Given the description of an element on the screen output the (x, y) to click on. 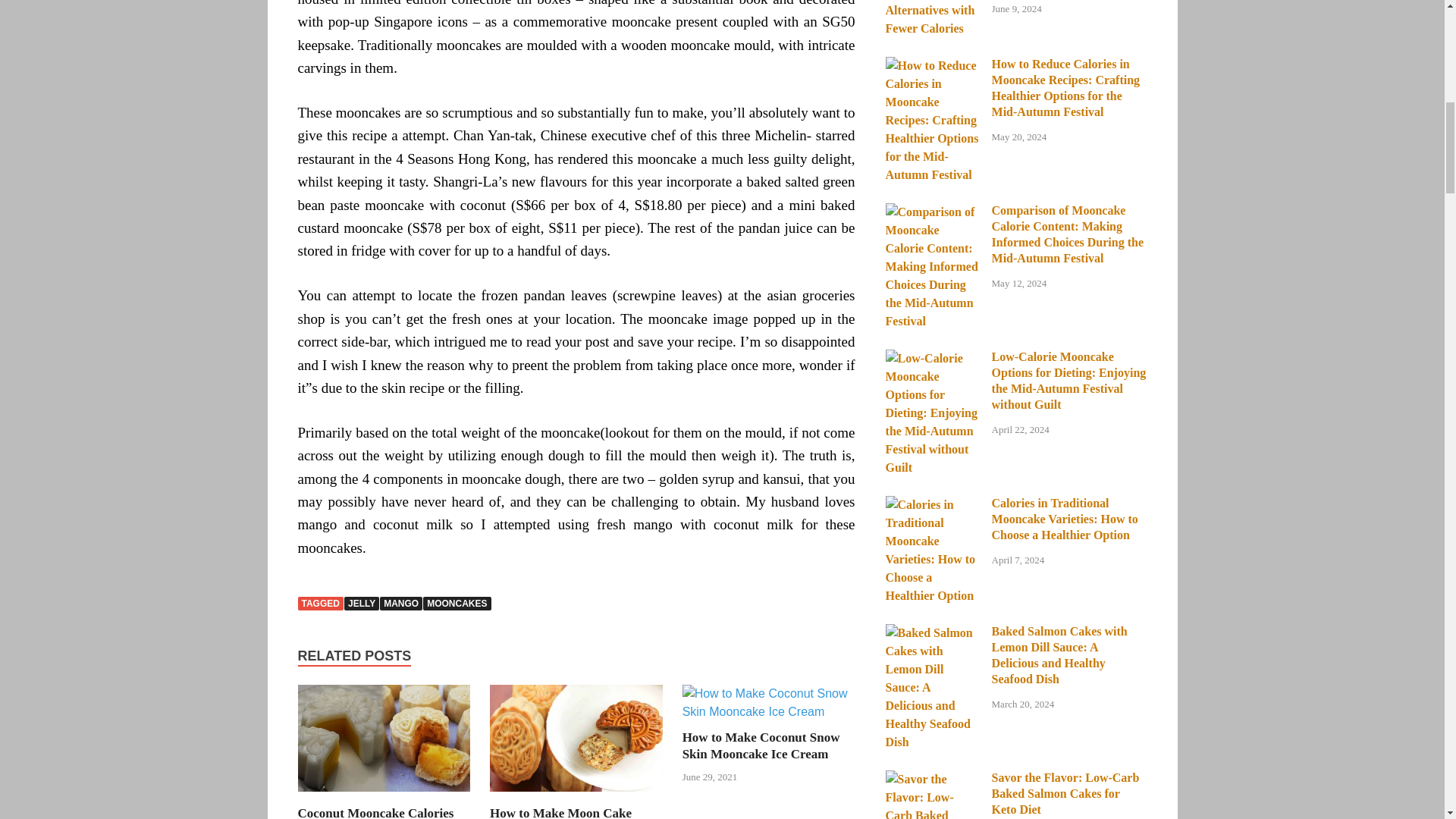
How to Make Moon Cake Coconut Filling (560, 812)
Coconut Mooncake Calories (374, 812)
How to Make Coconut Snow Skin Mooncake Ice Cream (761, 745)
How to Make Moon Cake Coconut Filling (575, 795)
Coconut Mooncake Calories (383, 795)
